Given the description of an element on the screen output the (x, y) to click on. 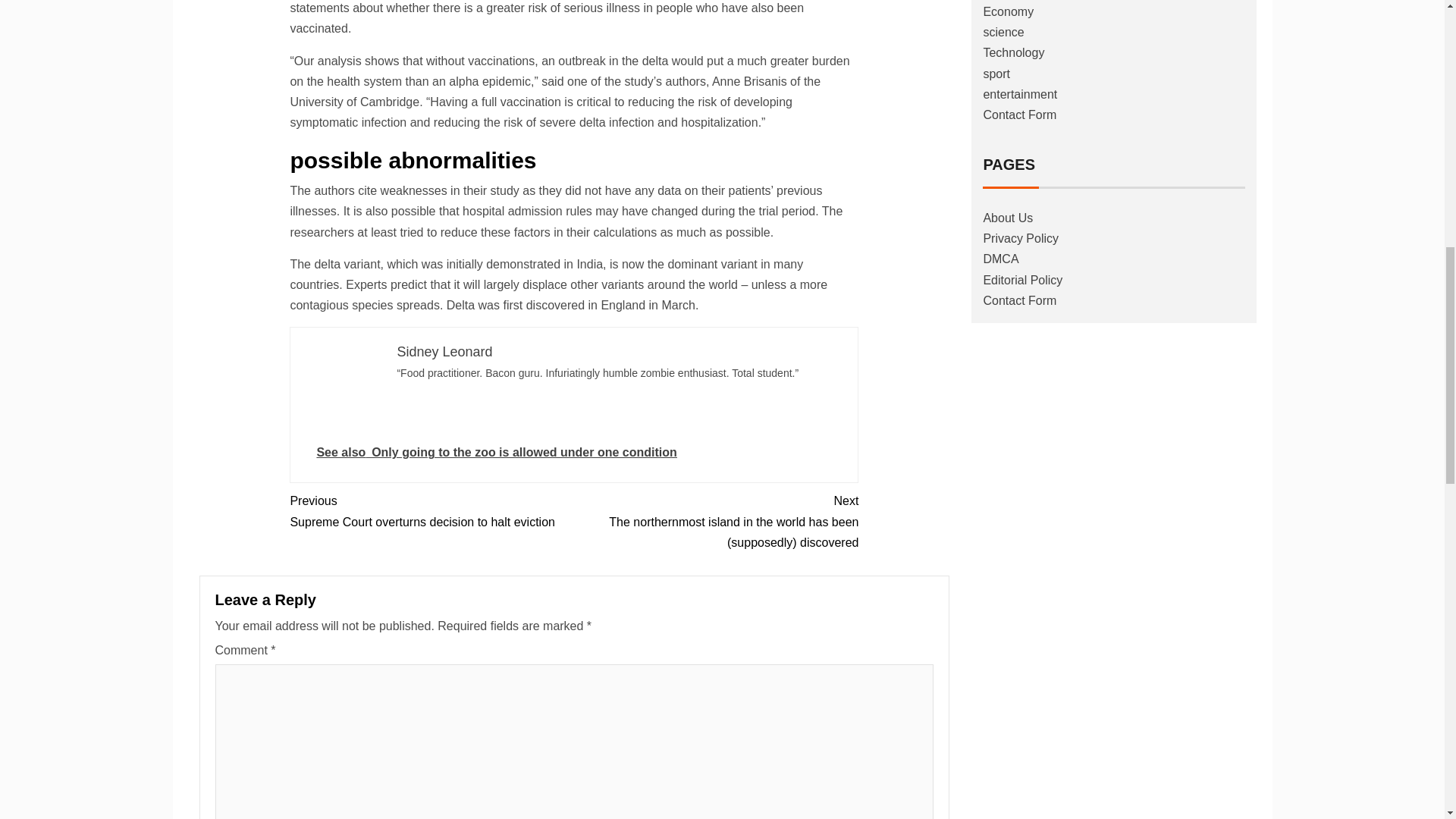
Sidney Leonard (444, 351)
